Given the description of an element on the screen output the (x, y) to click on. 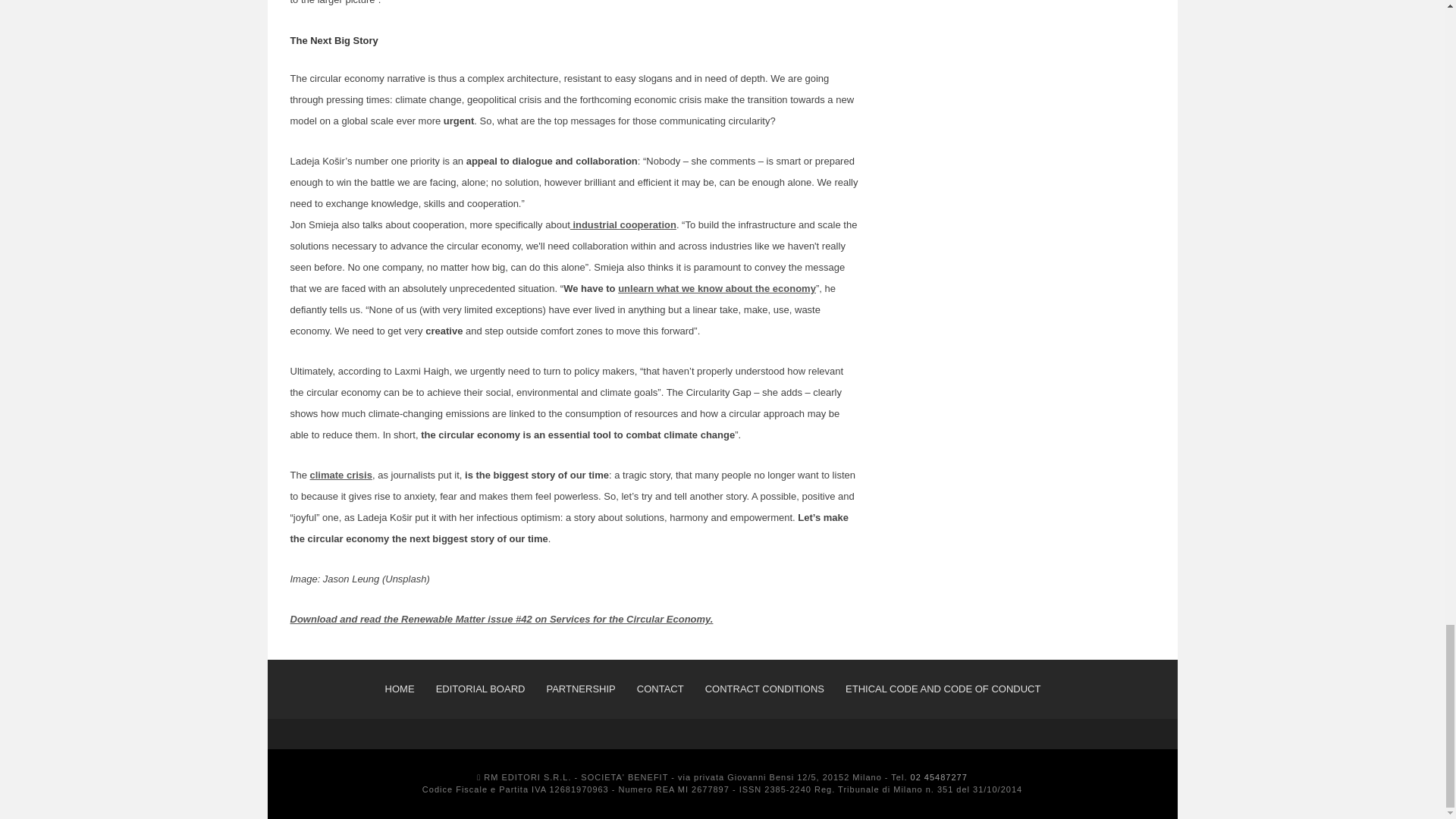
Home (399, 688)
Contact (660, 688)
unlearn what we know about the economy (716, 288)
climate crisis (341, 474)
Ethical Code and Code of Conduct (943, 688)
industrial cooperation (623, 224)
Partnership (580, 688)
 Contract conditions (764, 688)
Editorial board (480, 688)
